Given the description of an element on the screen output the (x, y) to click on. 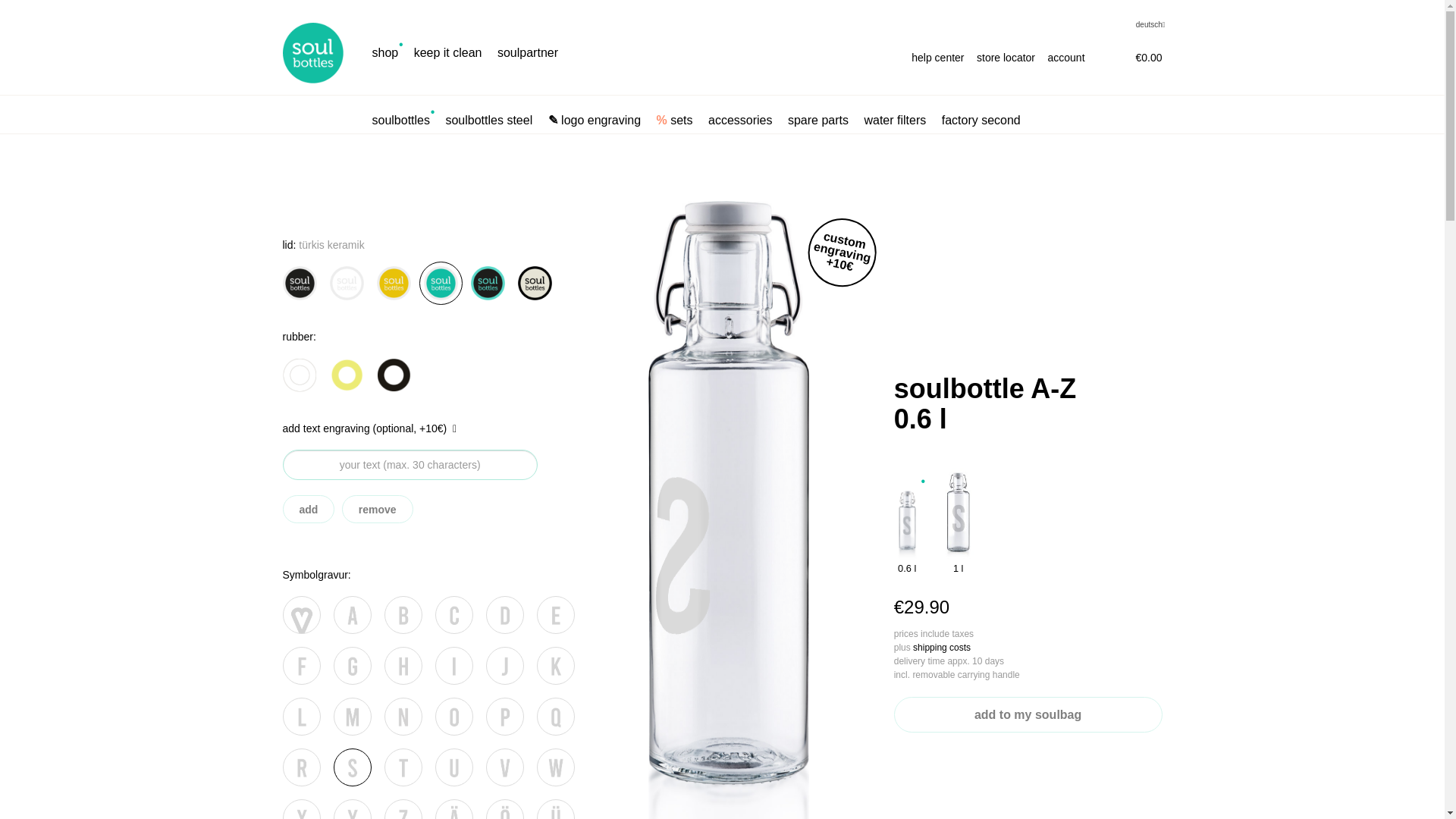
spare parts (817, 119)
soulbottles steel (488, 119)
shop (384, 52)
soulbottles steel (488, 119)
accessories (739, 119)
help center (937, 56)
account (1066, 56)
spare parts (817, 119)
factory second (981, 119)
soulpartner (527, 52)
